Given the description of an element on the screen output the (x, y) to click on. 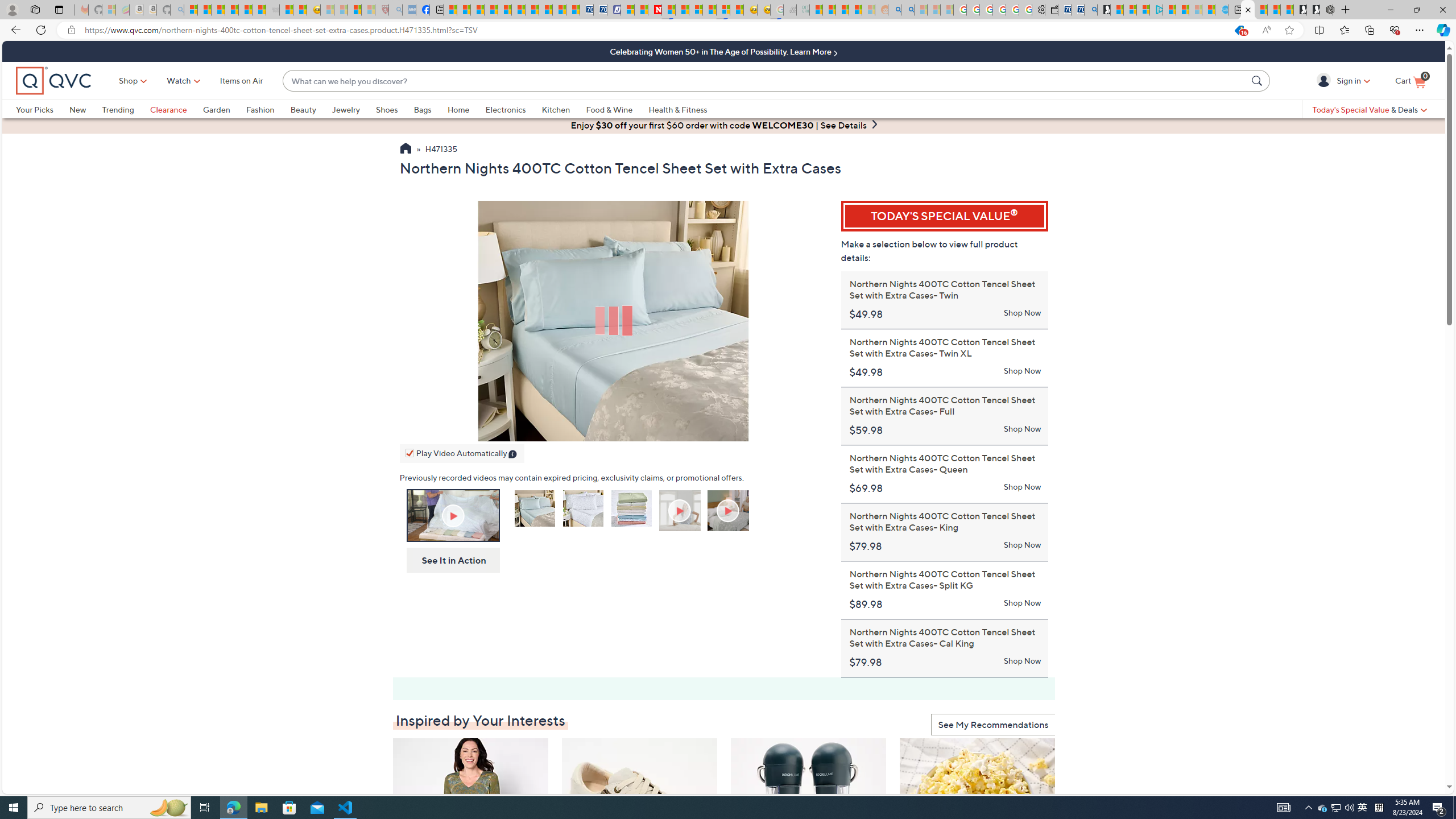
Cheap Car Rentals - Save70.com (1077, 9)
Today's Special Value & Deals (1369, 109)
Today's Special Value & Deals (1369, 109)
Celebrating Women 50+ in The Age of Possibility. Learn More (723, 51)
Picture-in-Picture (495, 430)
This site has coupons! Shopping in Microsoft Edge, 16 (1216, 29)
New (76, 109)
Combat Siege - Sleeping (271, 9)
